Given the description of an element on the screen output the (x, y) to click on. 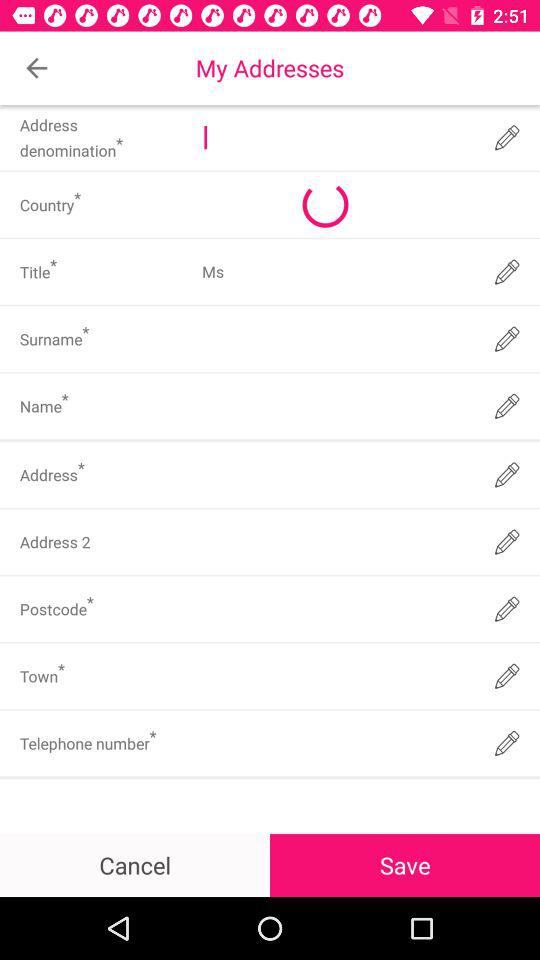
input address (335, 474)
